Given the description of an element on the screen output the (x, y) to click on. 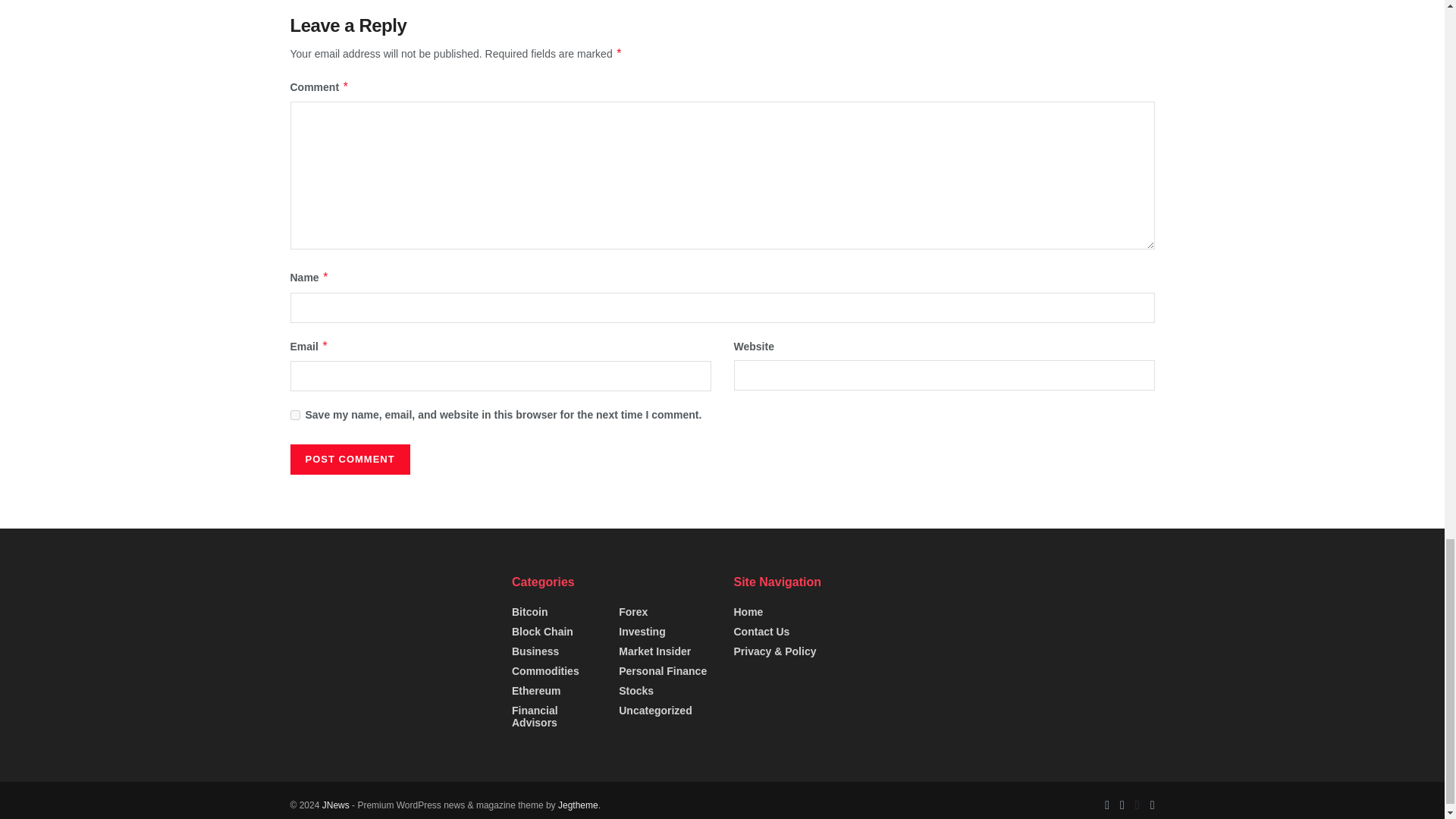
yes (294, 415)
Post Comment (349, 459)
Jegtheme (577, 805)
